Given the description of an element on the screen output the (x, y) to click on. 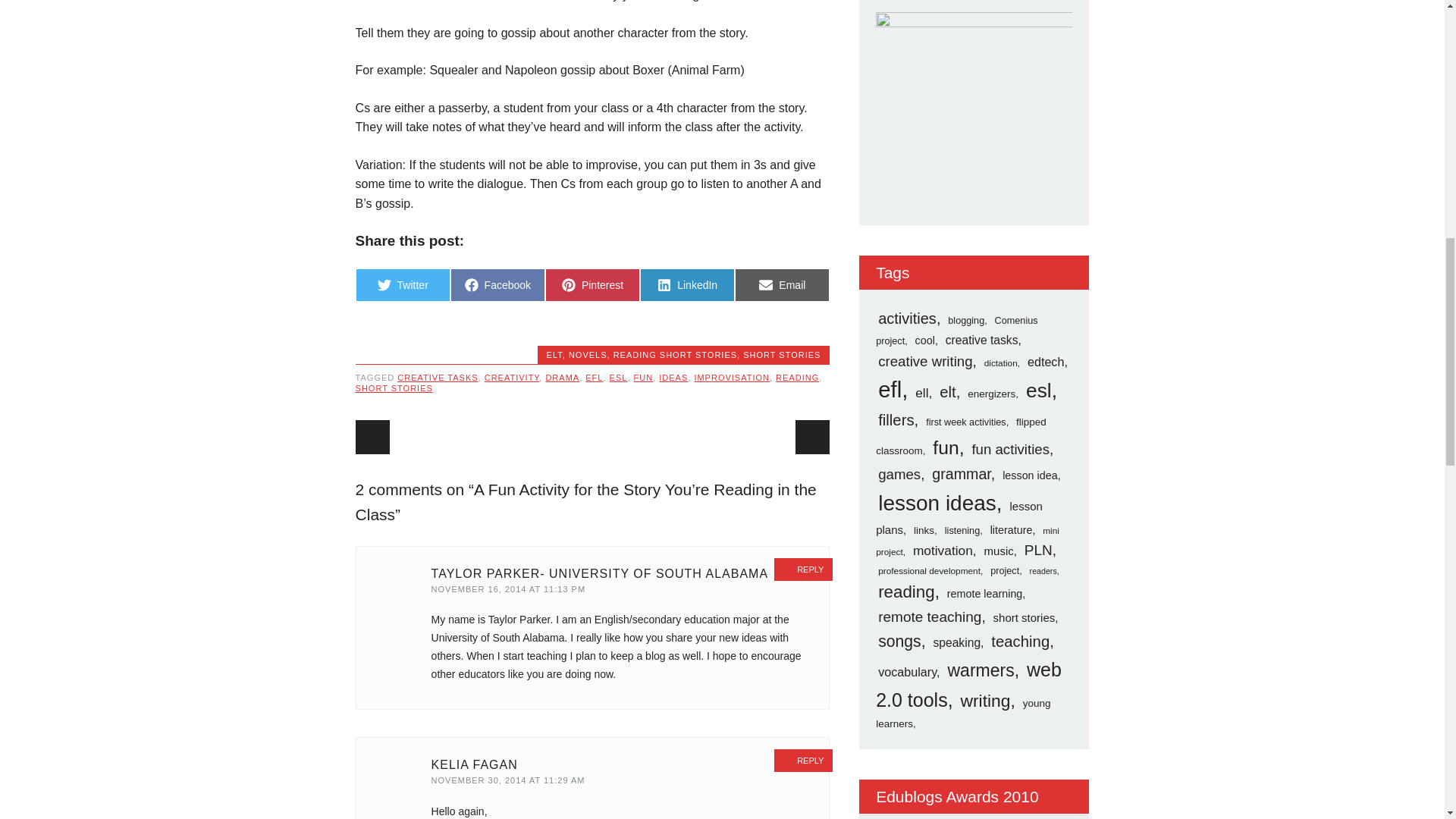
NOVELS (588, 354)
CREATIVE TASKS (437, 377)
DRAMA (592, 285)
CREATIVITY (561, 377)
IMPROVISATION (512, 377)
SHORT STORIES (402, 285)
READING (732, 377)
SHORT STORIES (781, 354)
EFL (797, 377)
ESL (393, 388)
FUN (593, 377)
READING SHORT STORIES (618, 377)
IDEAS (643, 377)
